Given the description of an element on the screen output the (x, y) to click on. 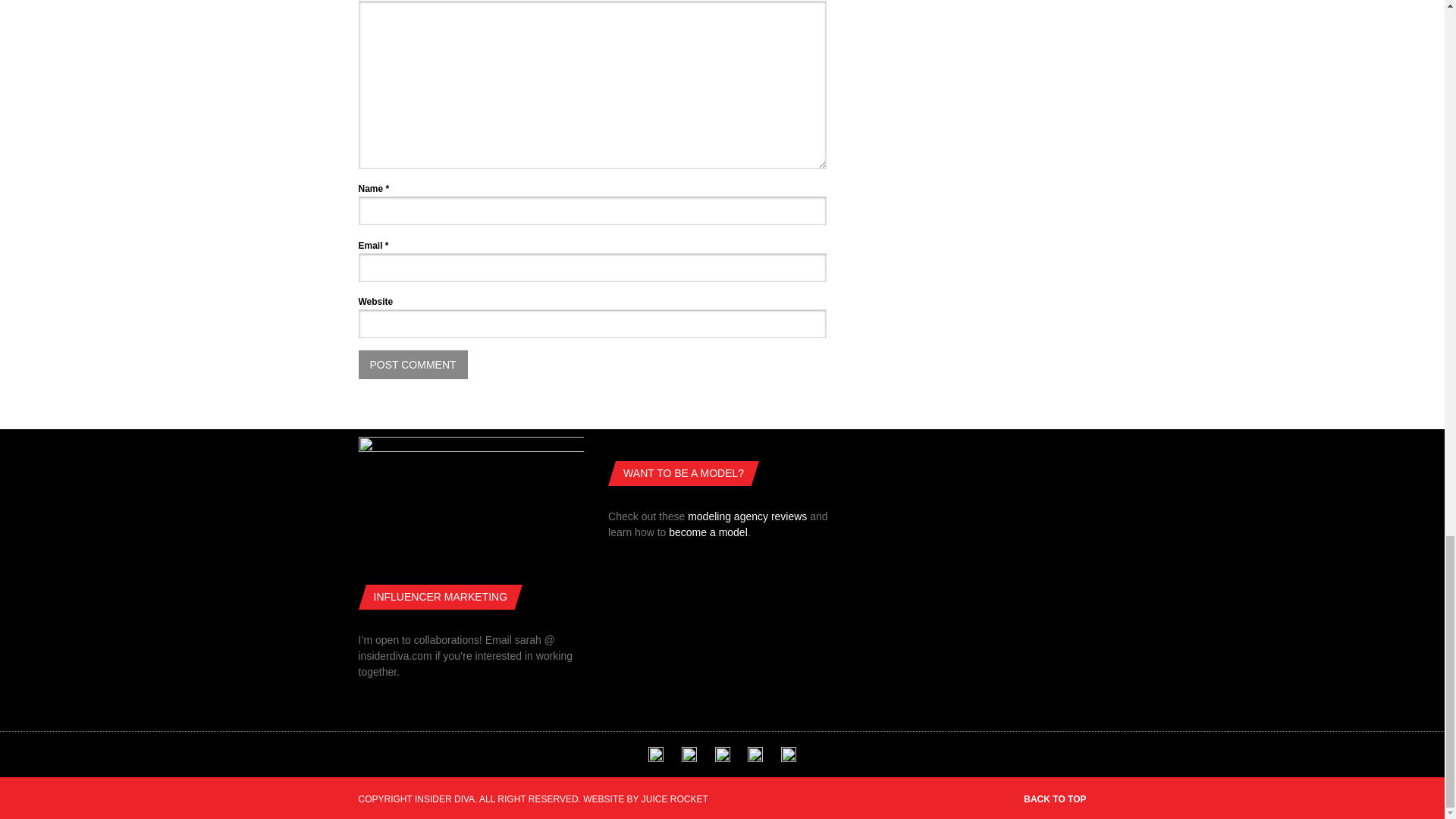
Tumblr (721, 758)
Pinterest (755, 758)
Instagram (788, 758)
Post Comment (412, 364)
